Given the description of an element on the screen output the (x, y) to click on. 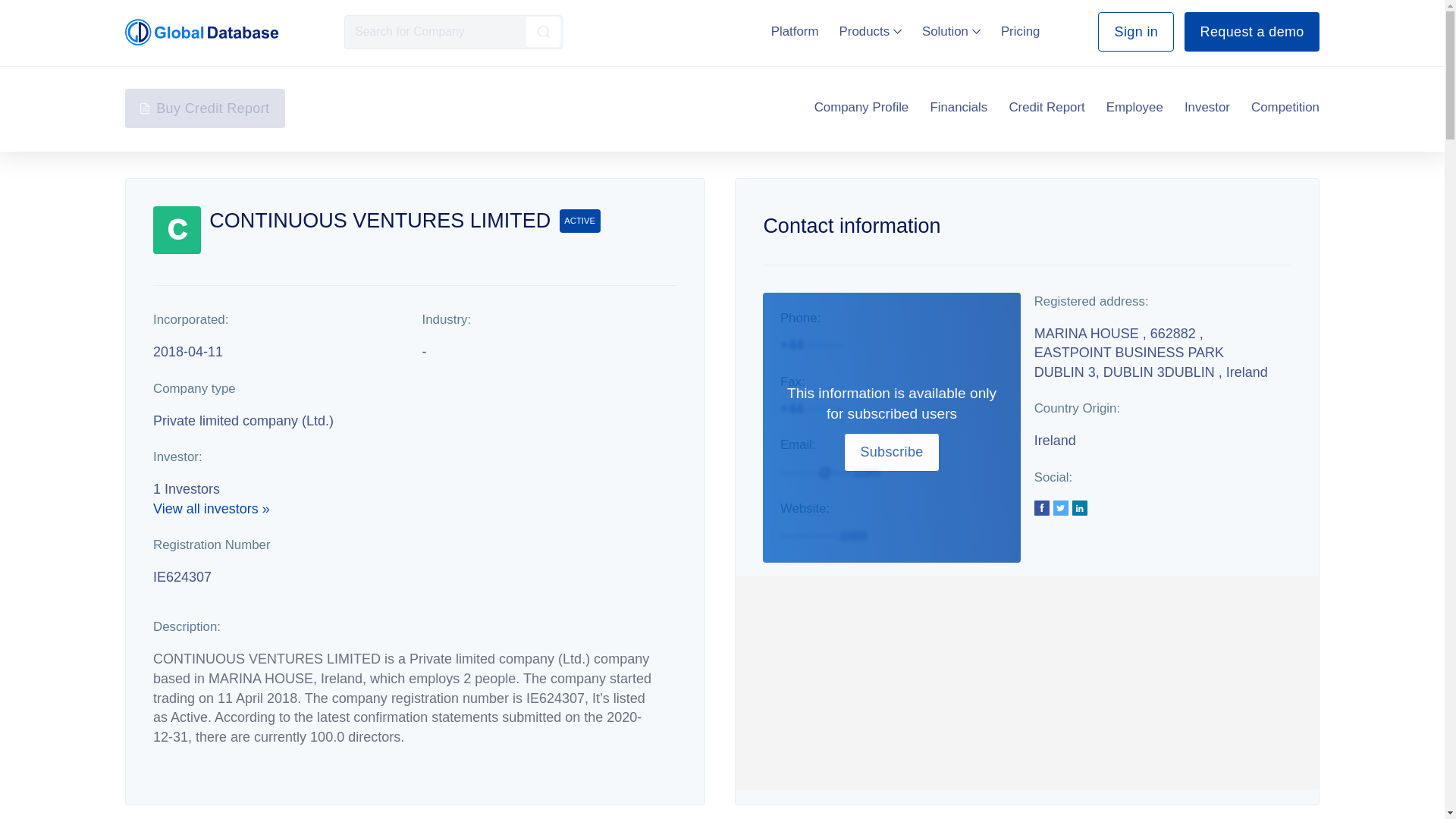
Sign in (1135, 31)
Credit Report (1046, 107)
Financials (958, 107)
Investor (1207, 107)
Platform (794, 31)
Pricing (1021, 31)
Request a demo (1252, 31)
Buy Credit Report (205, 107)
Employee (1134, 107)
Company Profile (860, 107)
